Given the description of an element on the screen output the (x, y) to click on. 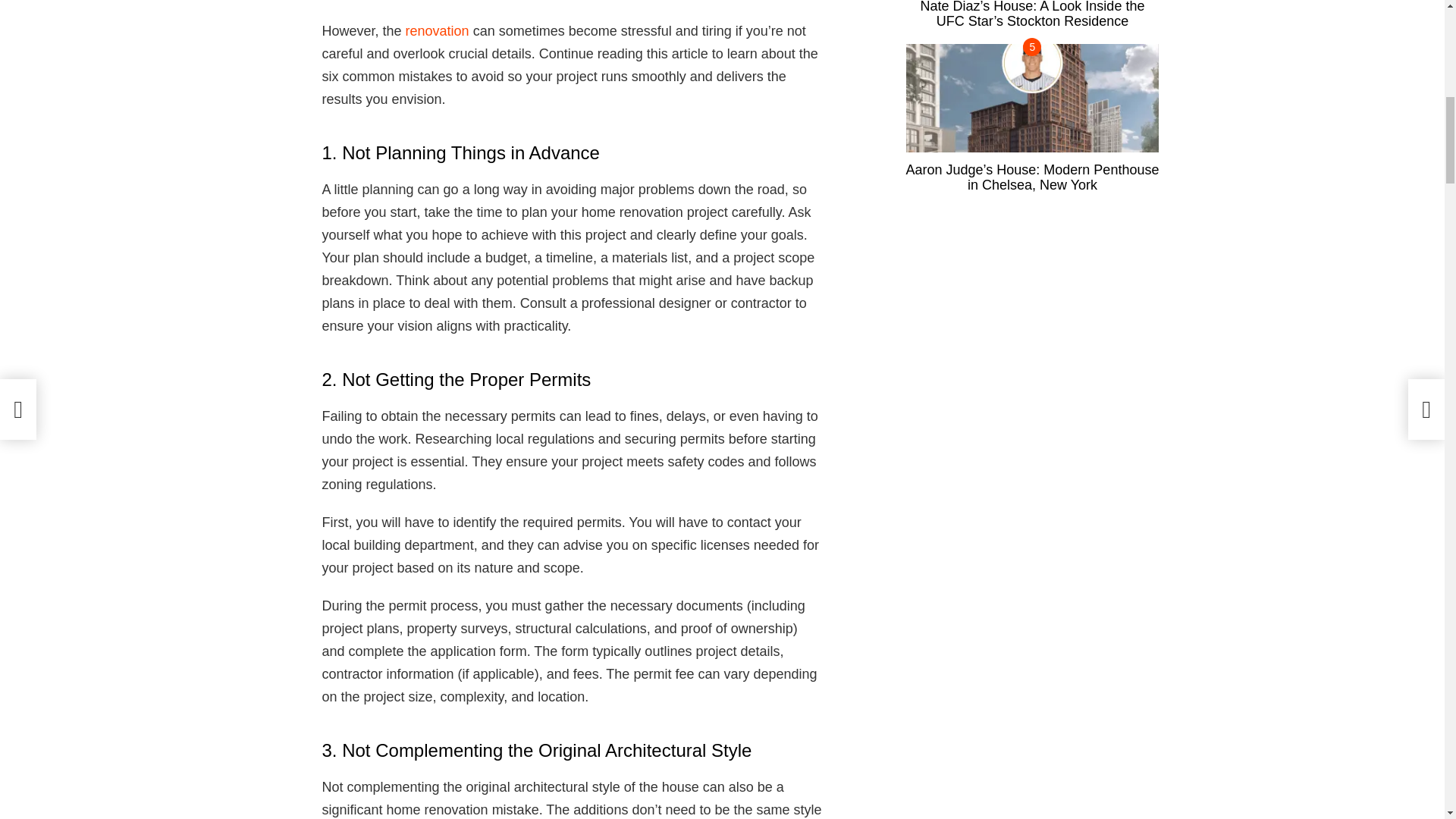
renovation (437, 30)
